Given the description of an element on the screen output the (x, y) to click on. 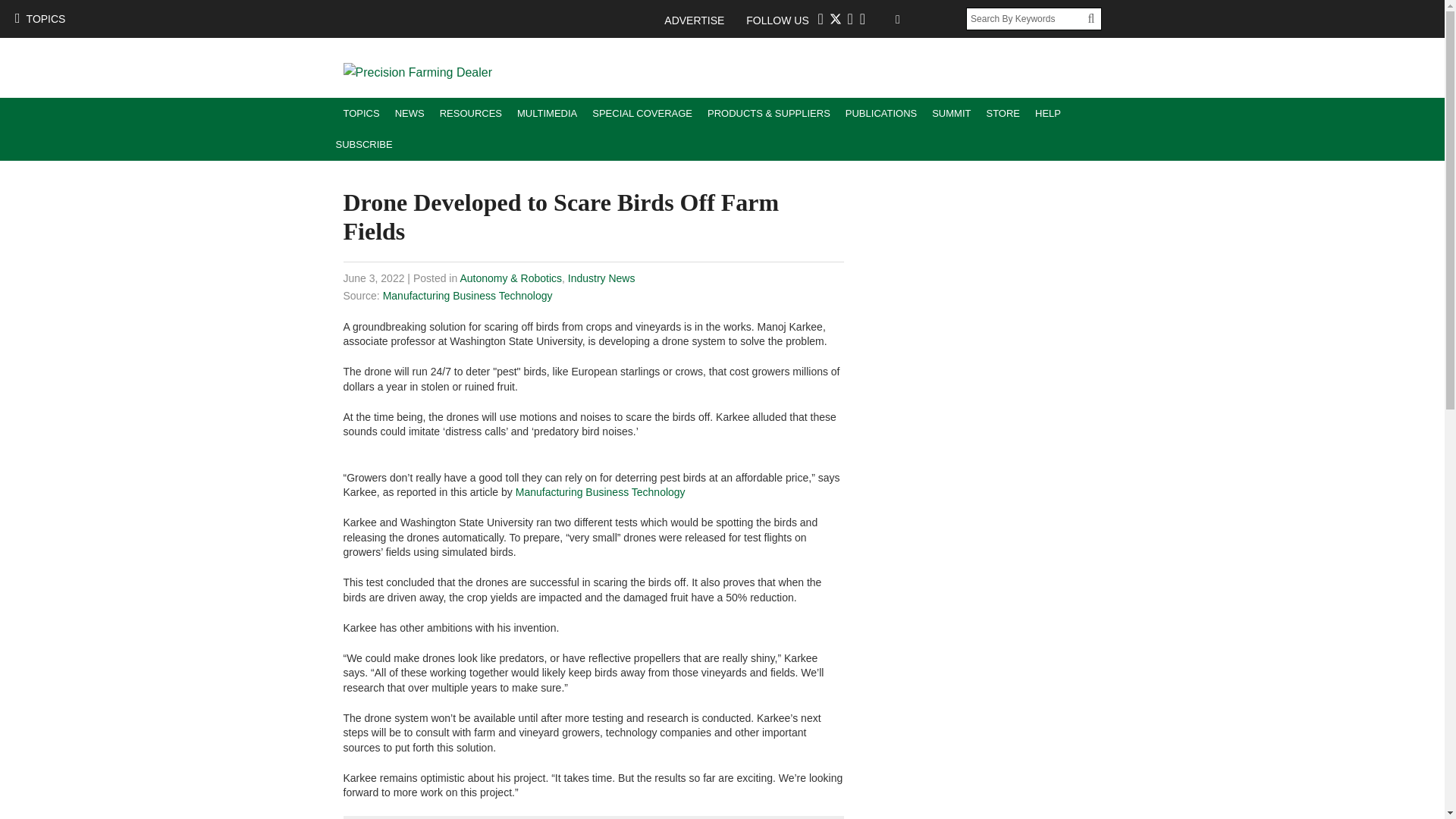
Search By Keywords (1026, 18)
Search By Keywords (1026, 18)
TOPICS (360, 112)
TOPICS (39, 18)
ADVERTISE (701, 20)
NEWS (409, 112)
